Given the description of an element on the screen output the (x, y) to click on. 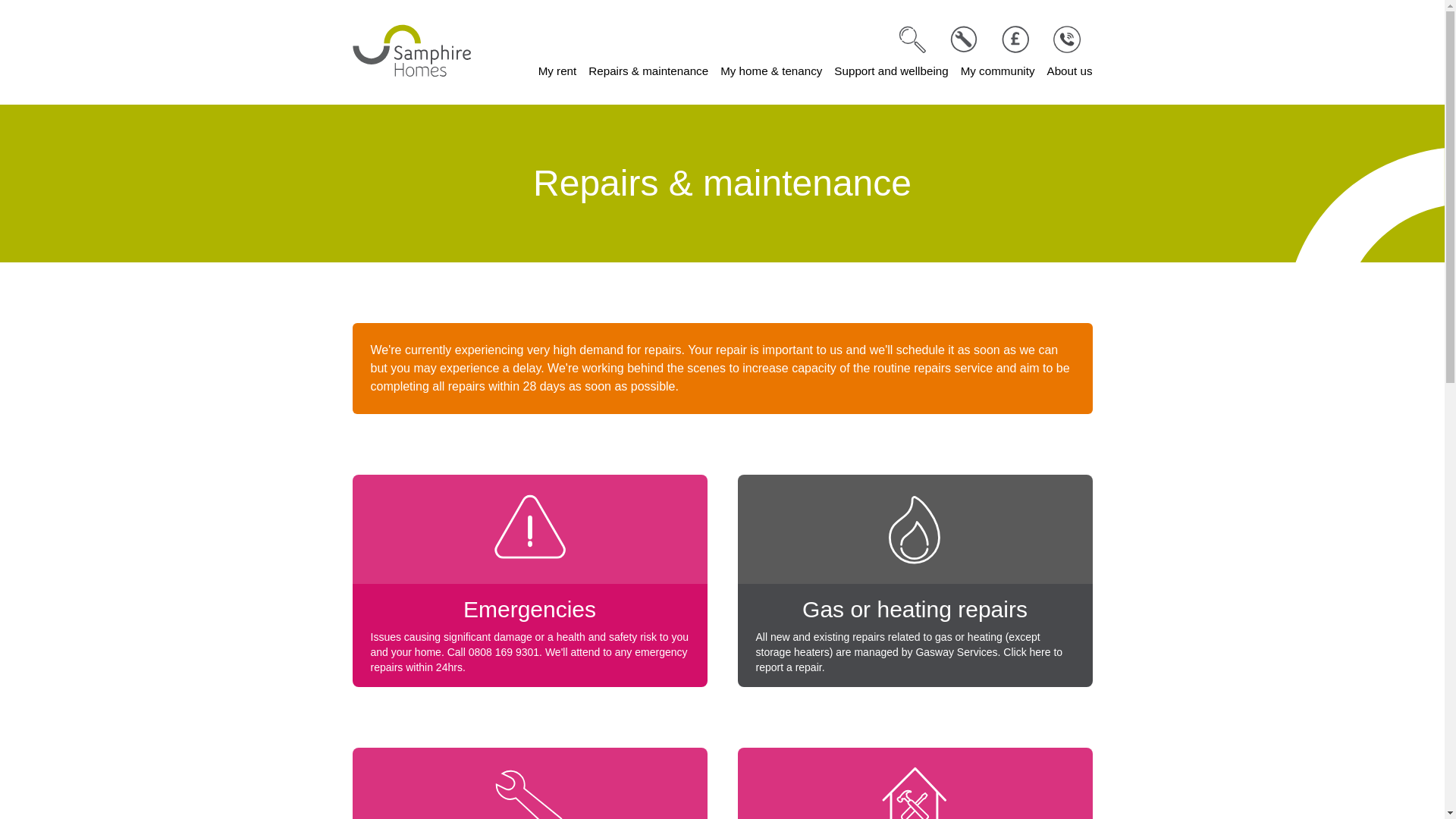
My rent (557, 71)
Support and wellbeing (890, 71)
My community (997, 71)
About us (1069, 71)
